Given the description of an element on the screen output the (x, y) to click on. 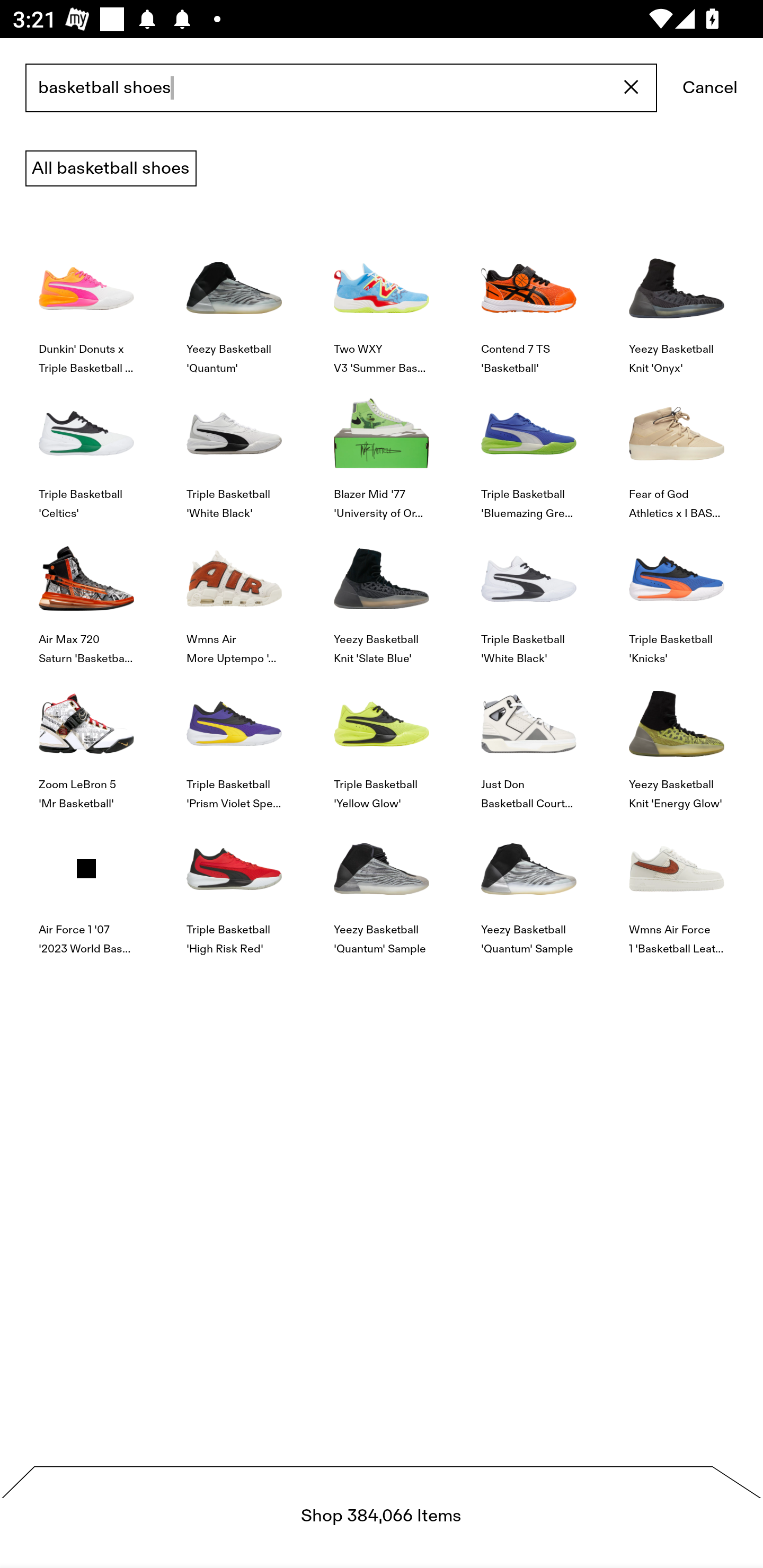
basketball shoes (340, 88)
Cancel (709, 88)
Clear text (631, 87)
All basketball shoes (110, 168)
Yeezy Basketball 'Quantum' (233, 303)
Two WXY V3 'Summer Basketball' (381, 303)
Contend 7 TS 'Basketball' (528, 303)
Yeezy Basketball Knit 'Onyx' (676, 303)
Triple Basketball 'Celtics' (86, 448)
Triple Basketball 'White Black' (233, 448)
Triple Basketball 'Bluemazing Green Glare' (528, 448)
Fear of God Athletics x I BASKETBALL 'Clay' (676, 448)
Air Max 720 Saturn 'Basketball Manga' (86, 593)
Wmns Air More Uptempo 'Basketball Leather' (233, 593)
Yeezy Basketball Knit 'Slate Blue' (381, 593)
Triple Basketball 'White Black' (528, 593)
Triple Basketball 'Knicks' (676, 593)
Zoom LeBron 5 'Mr Basketball' (86, 739)
Triple Basketball 'Prism Violet Spectra Yellow' (233, 739)
Triple Basketball 'Yellow Glow' (381, 739)
Just Don Basketball Courtside Hi 'White Grey' (528, 739)
Yeezy Basketball Knit 'Energy Glow' (676, 739)
Air Force 1 '07 '2023 World Basketball Festival' (86, 884)
Triple Basketball 'High Risk Red' (233, 884)
Yeezy Basketball 'Quantum' Sample (381, 884)
Yeezy Basketball 'Quantum' Sample (528, 884)
Wmns Air Force 1 'Basketball Leather' (676, 884)
Shop 384,066 Items (381, 1517)
